Given the description of an element on the screen output the (x, y) to click on. 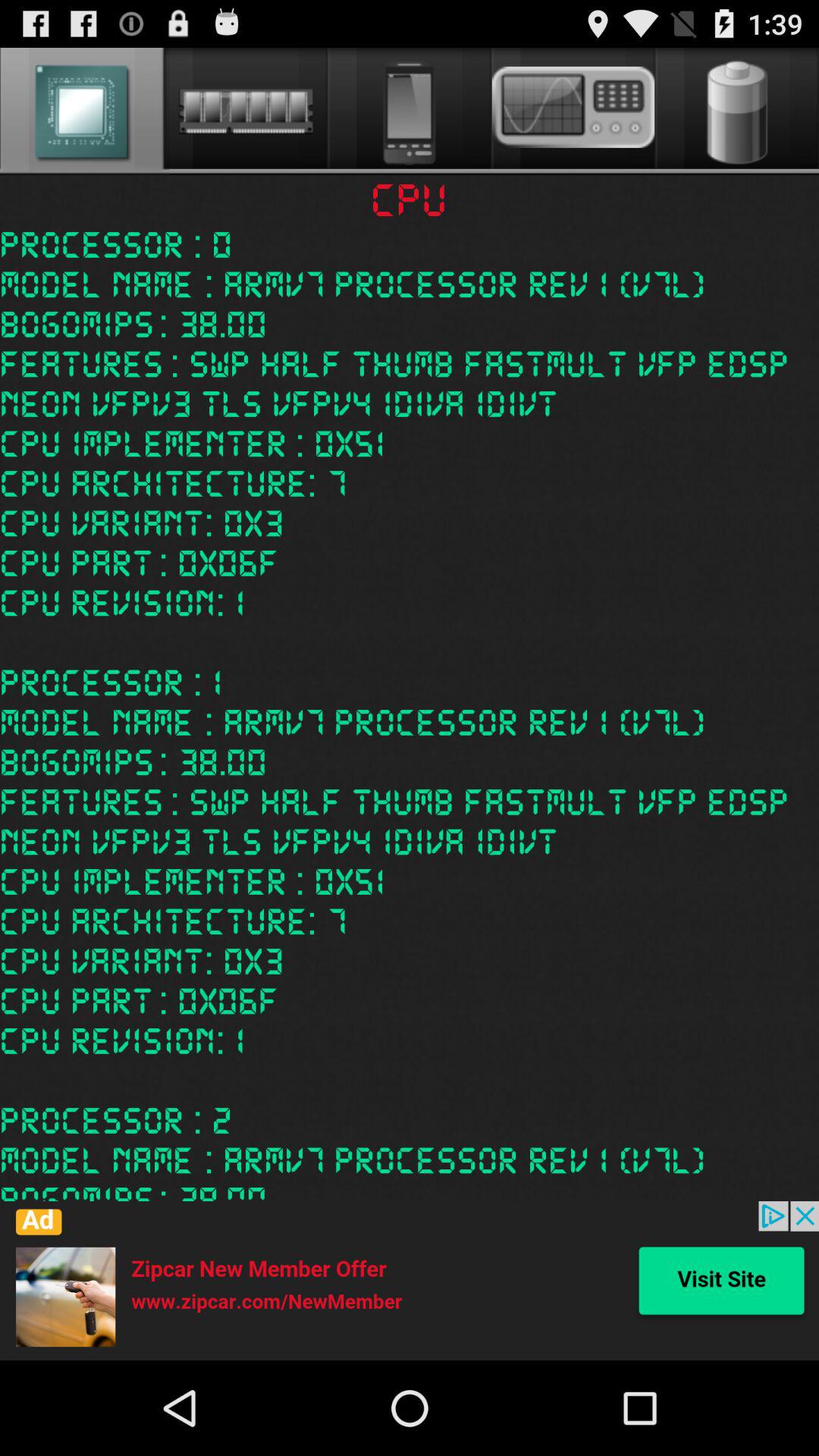
details about advertisement (409, 1280)
